Given the description of an element on the screen output the (x, y) to click on. 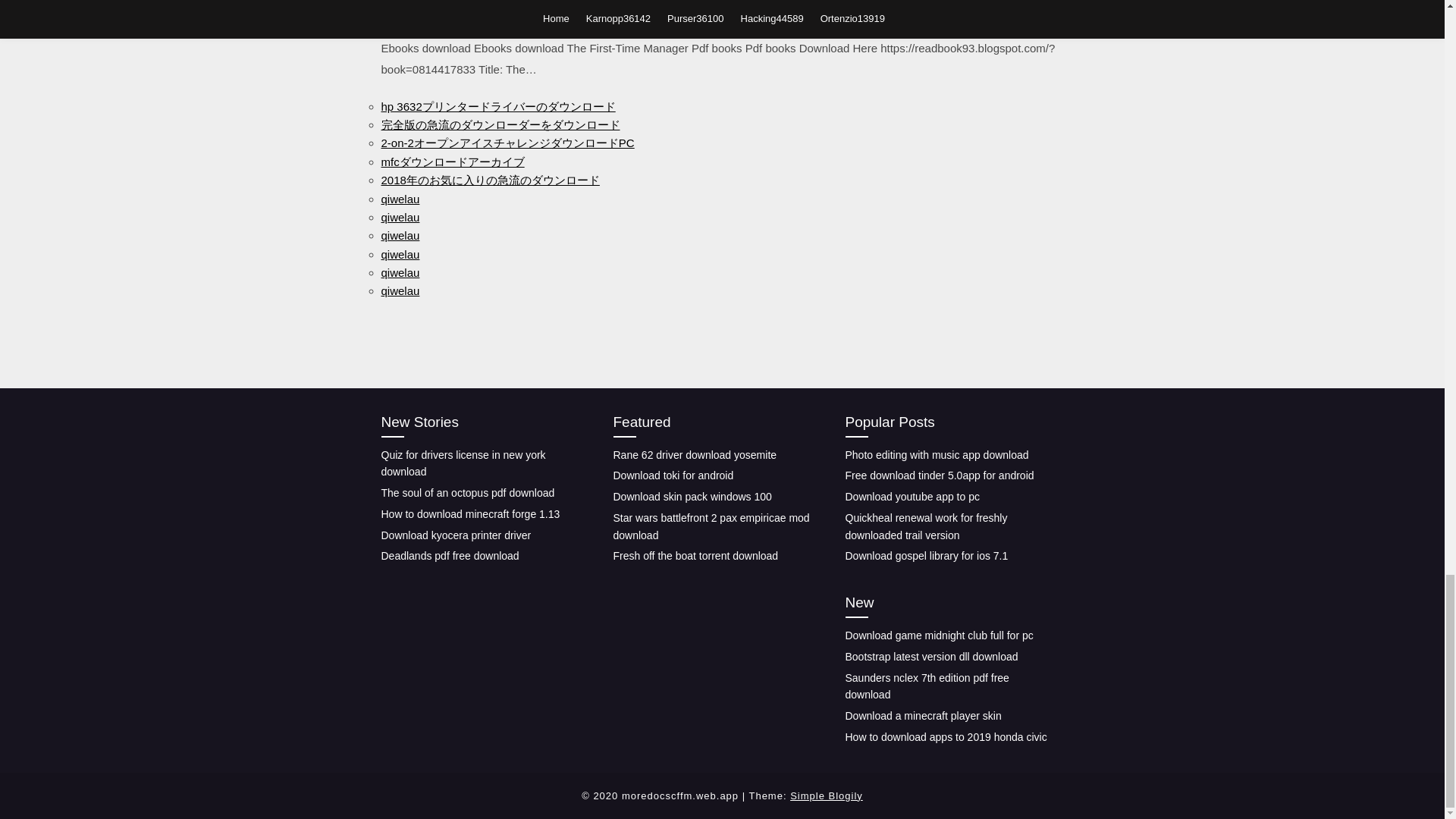
Download gospel library for ios 7.1 (925, 555)
Download a minecraft player skin (922, 715)
Free download tinder 5.0app for android (938, 475)
The soul of an octopus pdf download (467, 492)
qiwelau (399, 254)
qiwelau (399, 290)
qiwelau (399, 272)
Star wars battlefront 2 pax empiricae mod download (710, 526)
Bootstrap latest version dll download (930, 656)
Download youtube app to pc (911, 496)
How to download minecraft forge 1.13 (469, 513)
Download kyocera printer driver (455, 535)
Deadlands pdf free download (449, 555)
Quiz for drivers license in new york download (462, 463)
qiwelau (399, 216)
